Given the description of an element on the screen output the (x, y) to click on. 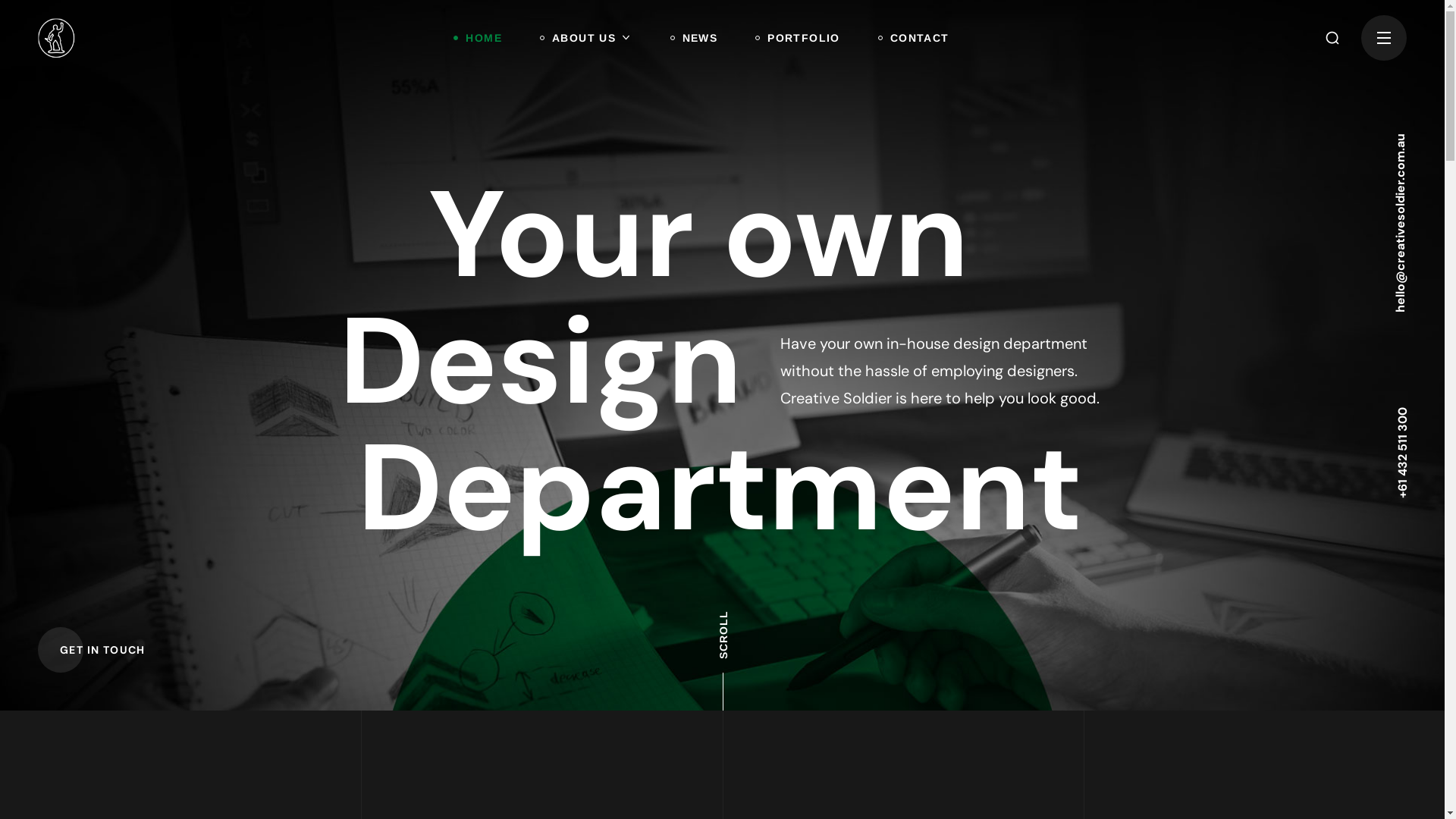
ABOUT US Element type: text (585, 37)
PORTFOLIO Element type: text (797, 37)
CONTACT Element type: text (913, 37)
GET IN TOUCH Element type: text (102, 649)
NEWS Element type: text (694, 37)
Search Element type: text (1320, 44)
HOME Element type: text (477, 37)
Search Element type: text (1320, 120)
